Given the description of an element on the screen output the (x, y) to click on. 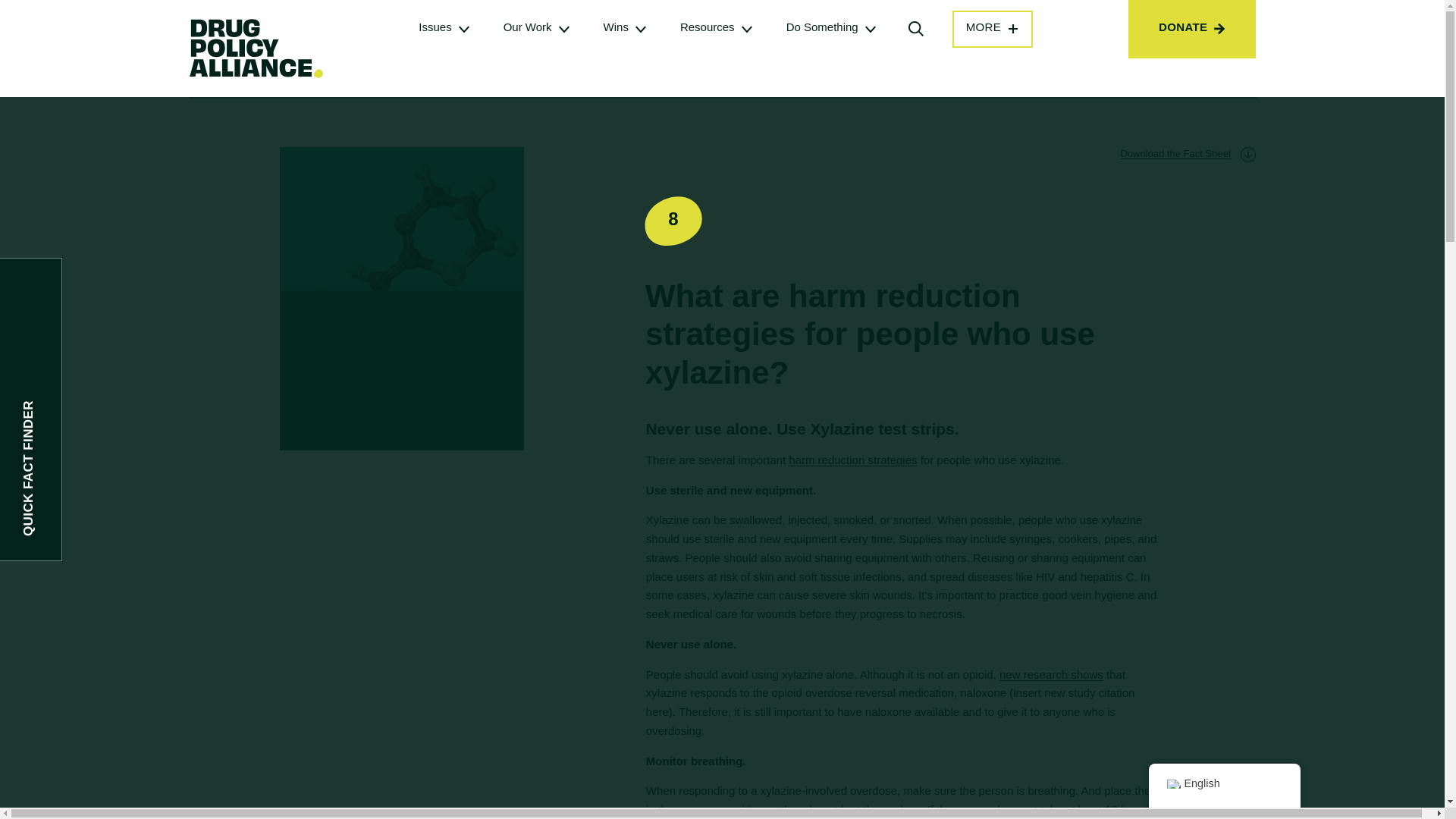
Our Work (527, 27)
Do Something (822, 27)
Resources (707, 27)
Issues (435, 27)
MORE (992, 28)
DONATE (1191, 29)
Wins (616, 27)
English (1172, 783)
